Given the description of an element on the screen output the (x, y) to click on. 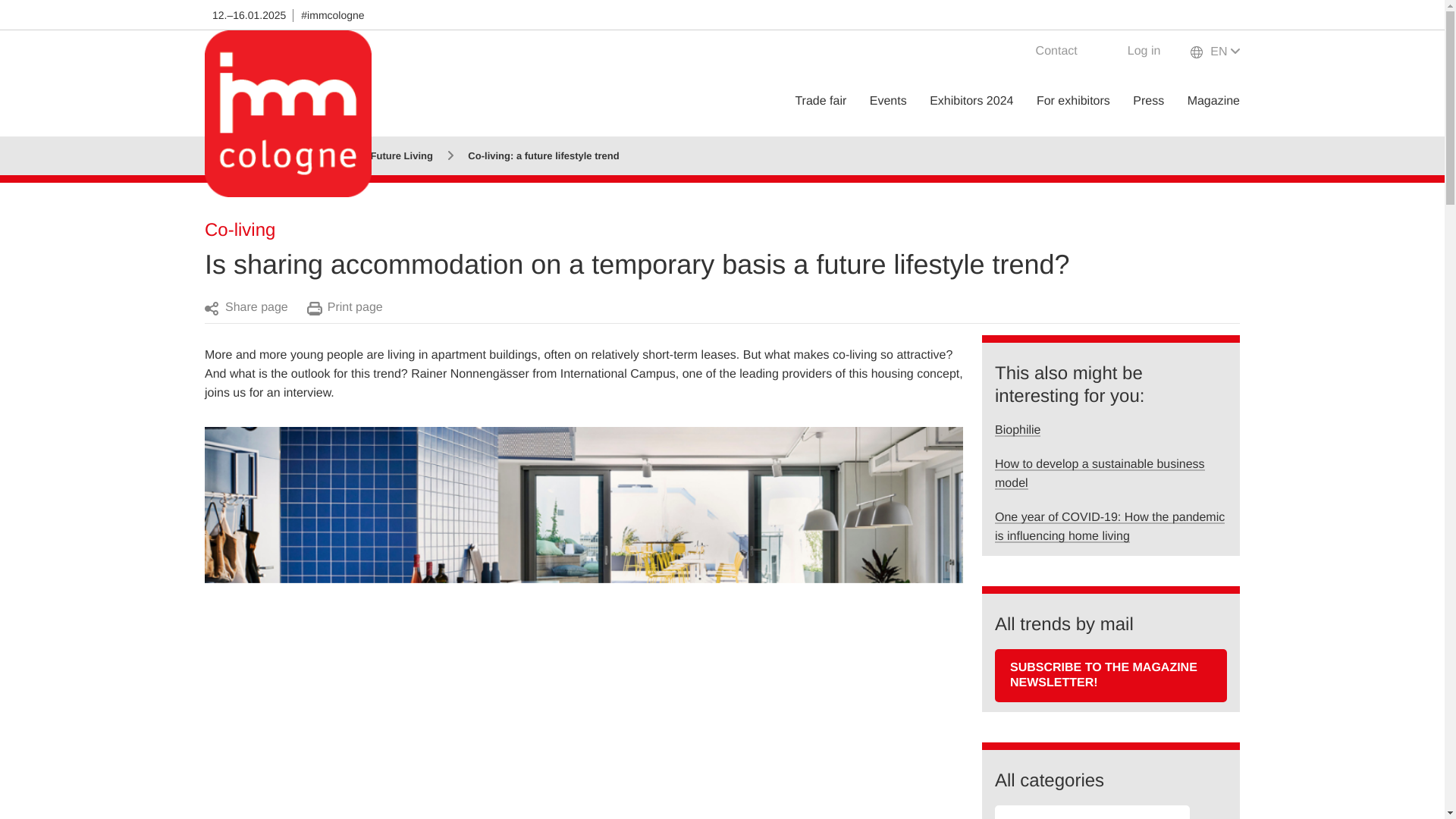
Press (1147, 101)
Events (888, 101)
Contact (1046, 52)
Trade fair (819, 101)
Log in (1134, 52)
Trade fair (819, 101)
Magazine (1214, 101)
Log in (1134, 52)
Koelnmesse Logo (288, 115)
Exhibitors 2024 (971, 101)
